Given the description of an element on the screen output the (x, y) to click on. 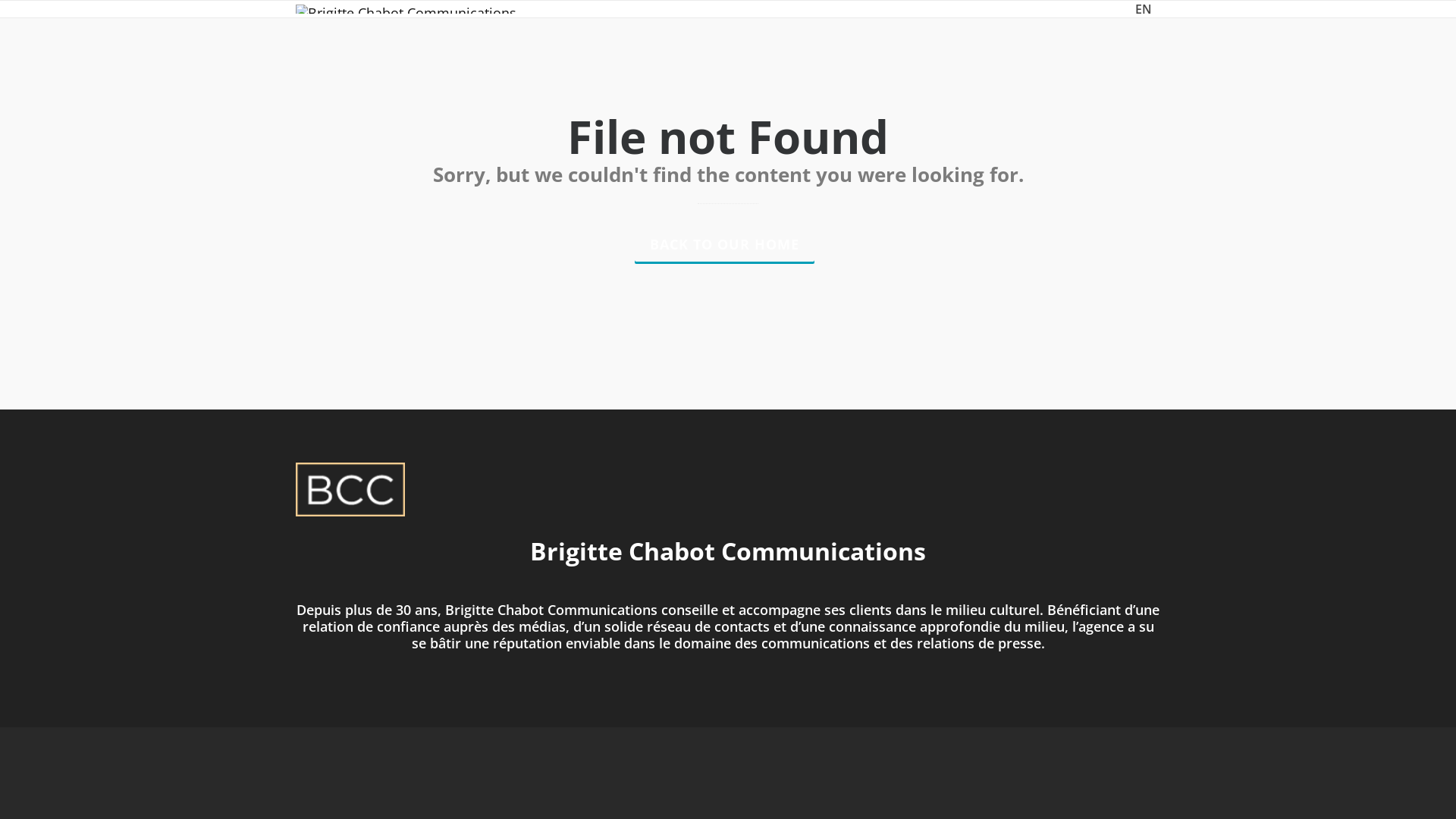
BACK TO OUR HOME Element type: text (723, 242)
EN Element type: text (1143, 8)
